Given the description of an element on the screen output the (x, y) to click on. 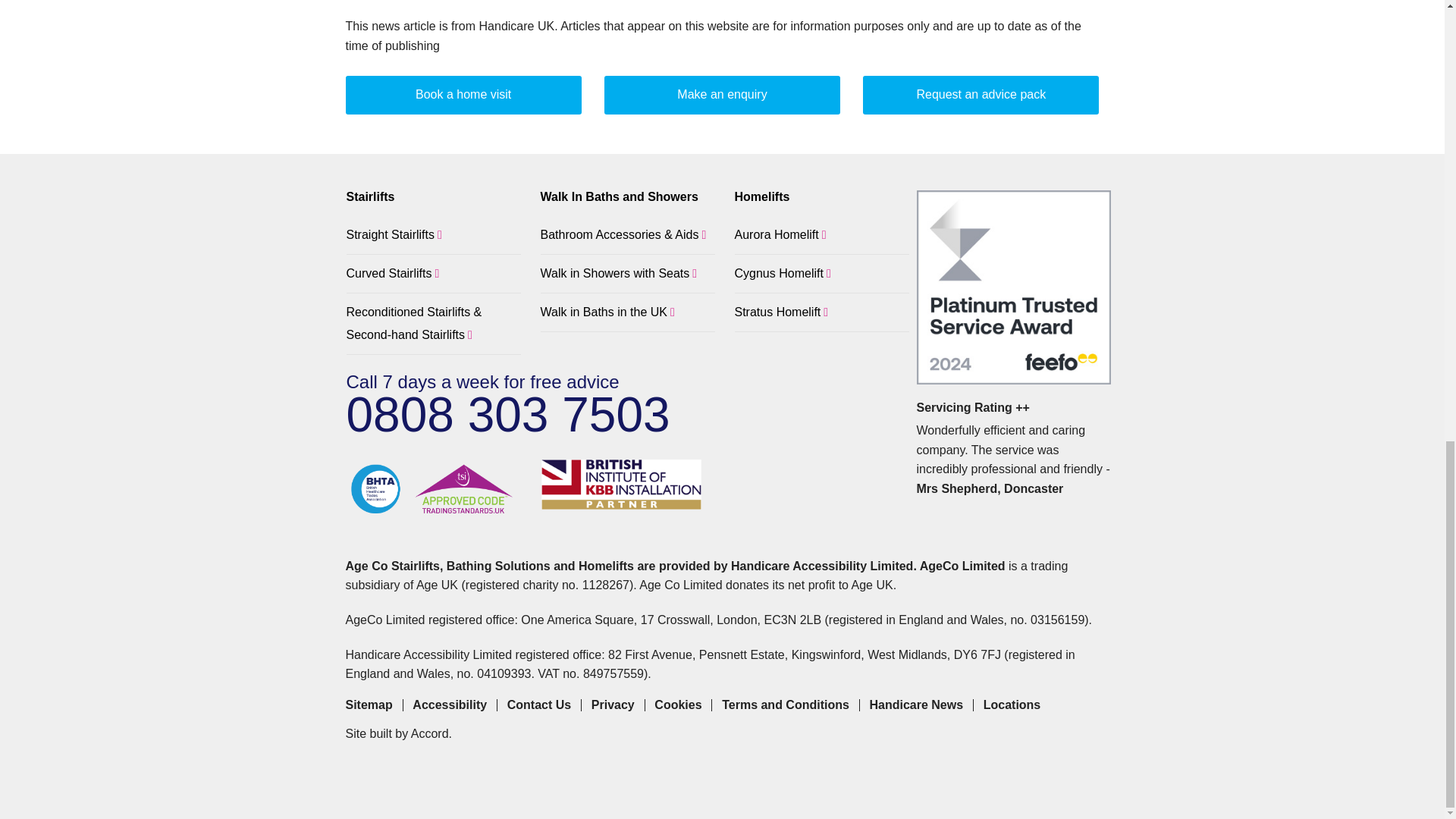
Book a home visit (463, 95)
Make an enquiry (722, 95)
